Given the description of an element on the screen output the (x, y) to click on. 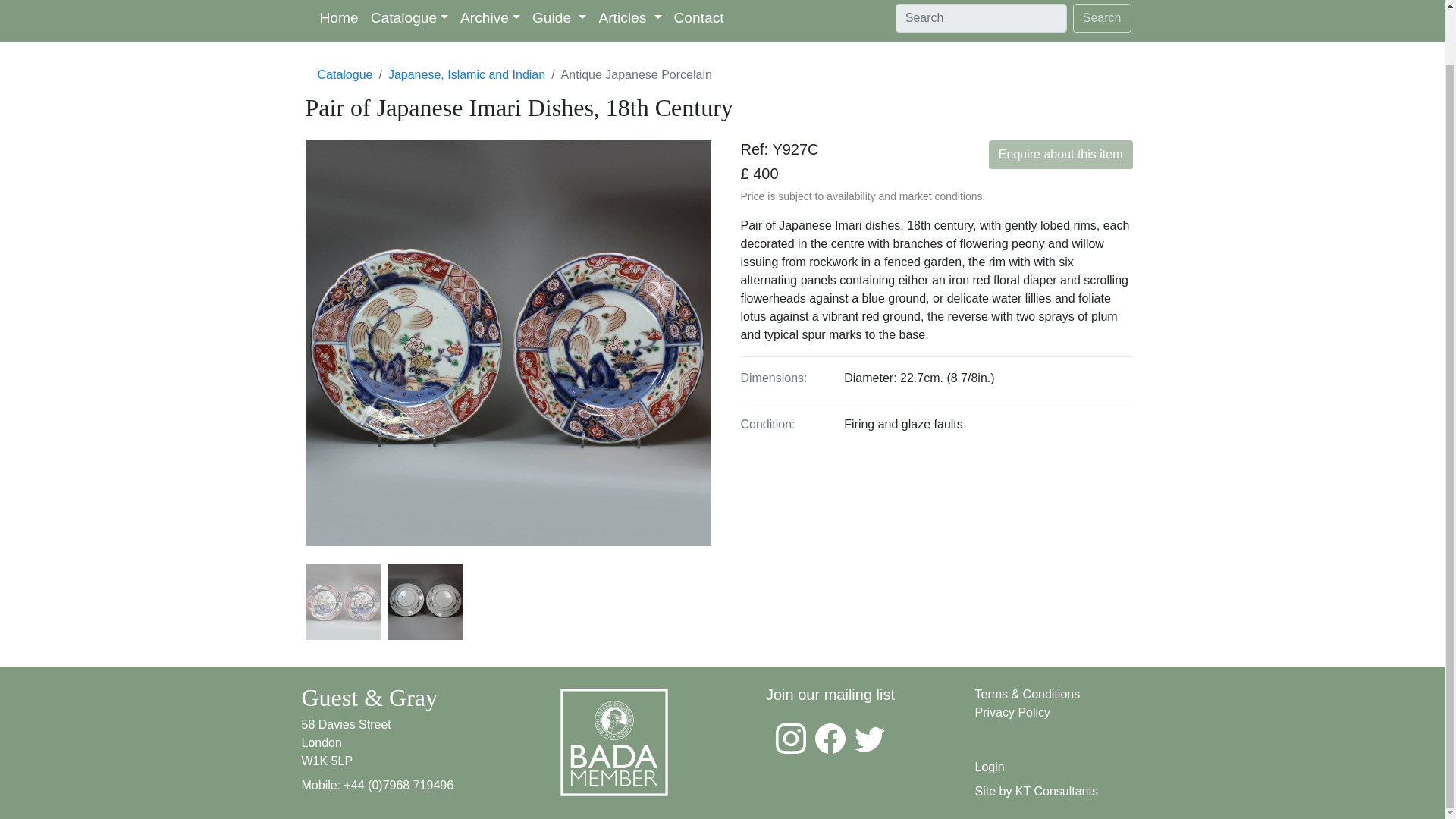
Home (339, 20)
Archive (489, 20)
Catalogue (409, 20)
